Given the description of an element on the screen output the (x, y) to click on. 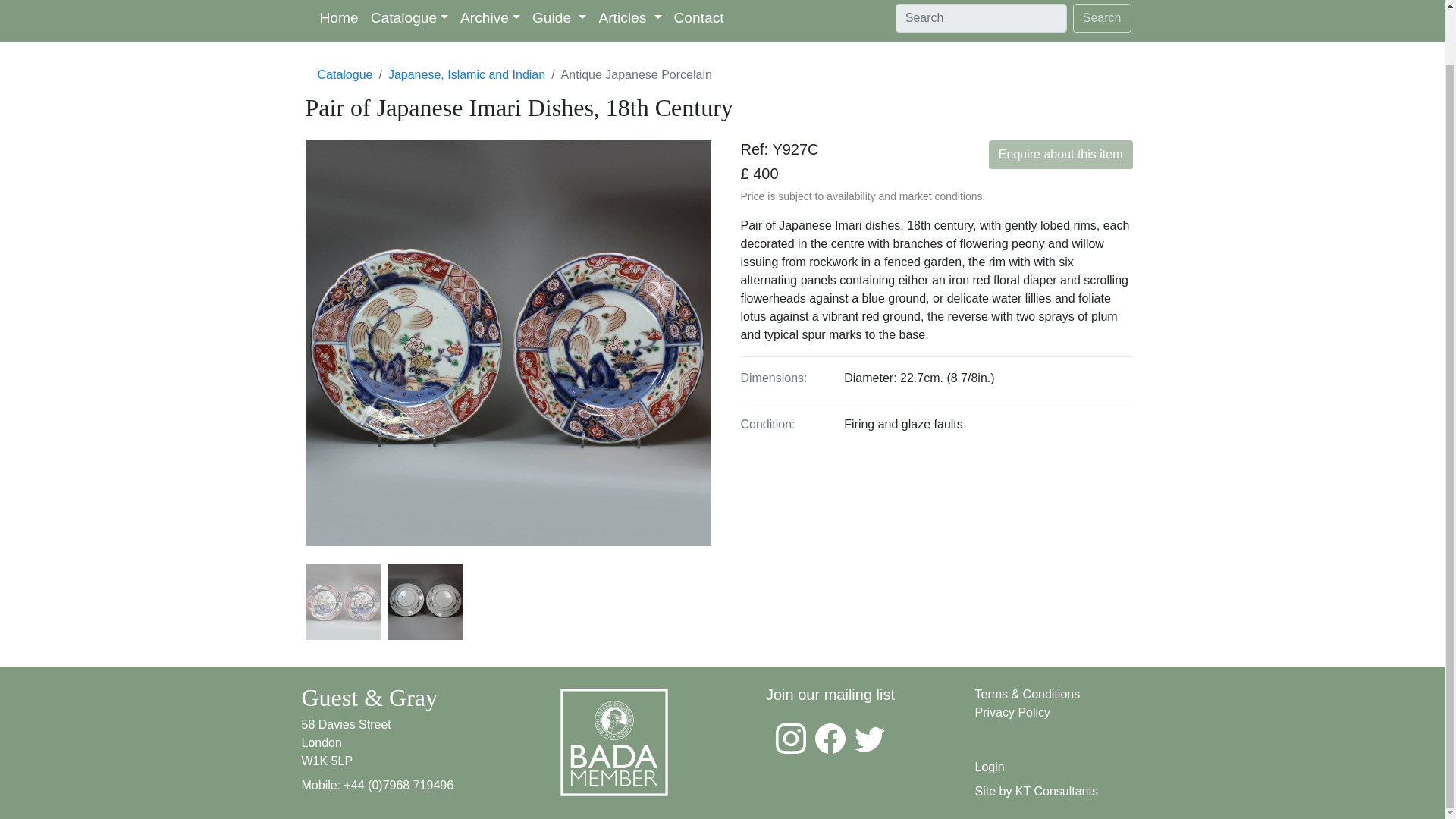
Home (339, 20)
Archive (489, 20)
Catalogue (409, 20)
